Given the description of an element on the screen output the (x, y) to click on. 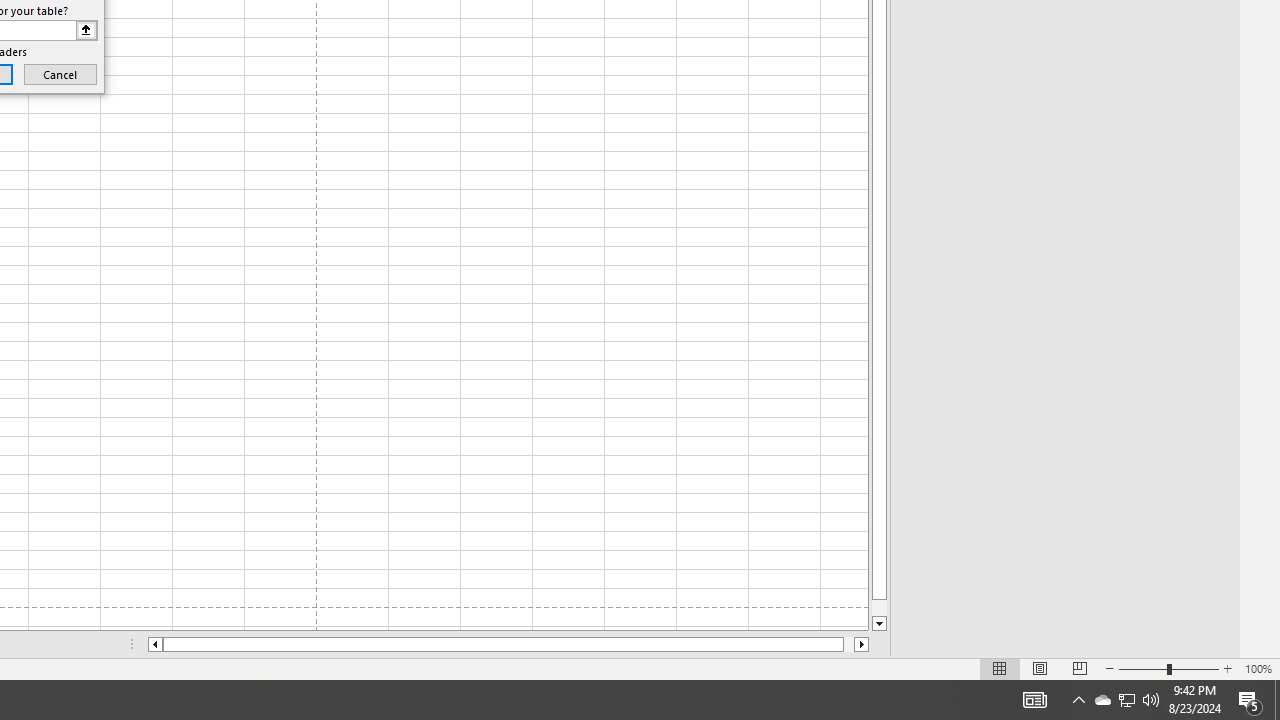
Page Break Preview (1079, 668)
Page right (848, 644)
Page down (879, 607)
Class: NetUIScrollBar (507, 644)
Normal (1000, 668)
Line down (879, 624)
Zoom (1168, 668)
Zoom Out (1142, 668)
Zoom In (1227, 668)
Column right (861, 644)
Column left (153, 644)
